Given the description of an element on the screen output the (x, y) to click on. 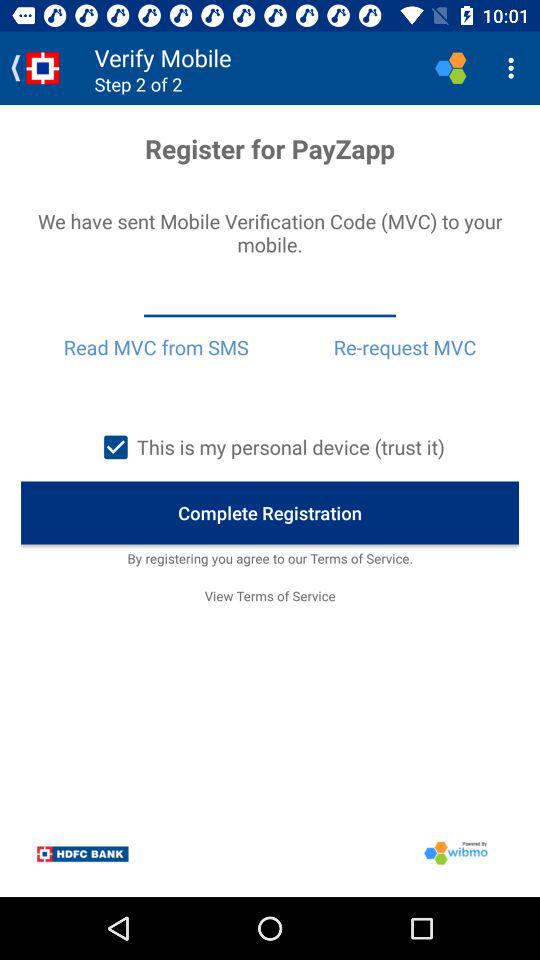
click this is my (269, 447)
